Given the description of an element on the screen output the (x, y) to click on. 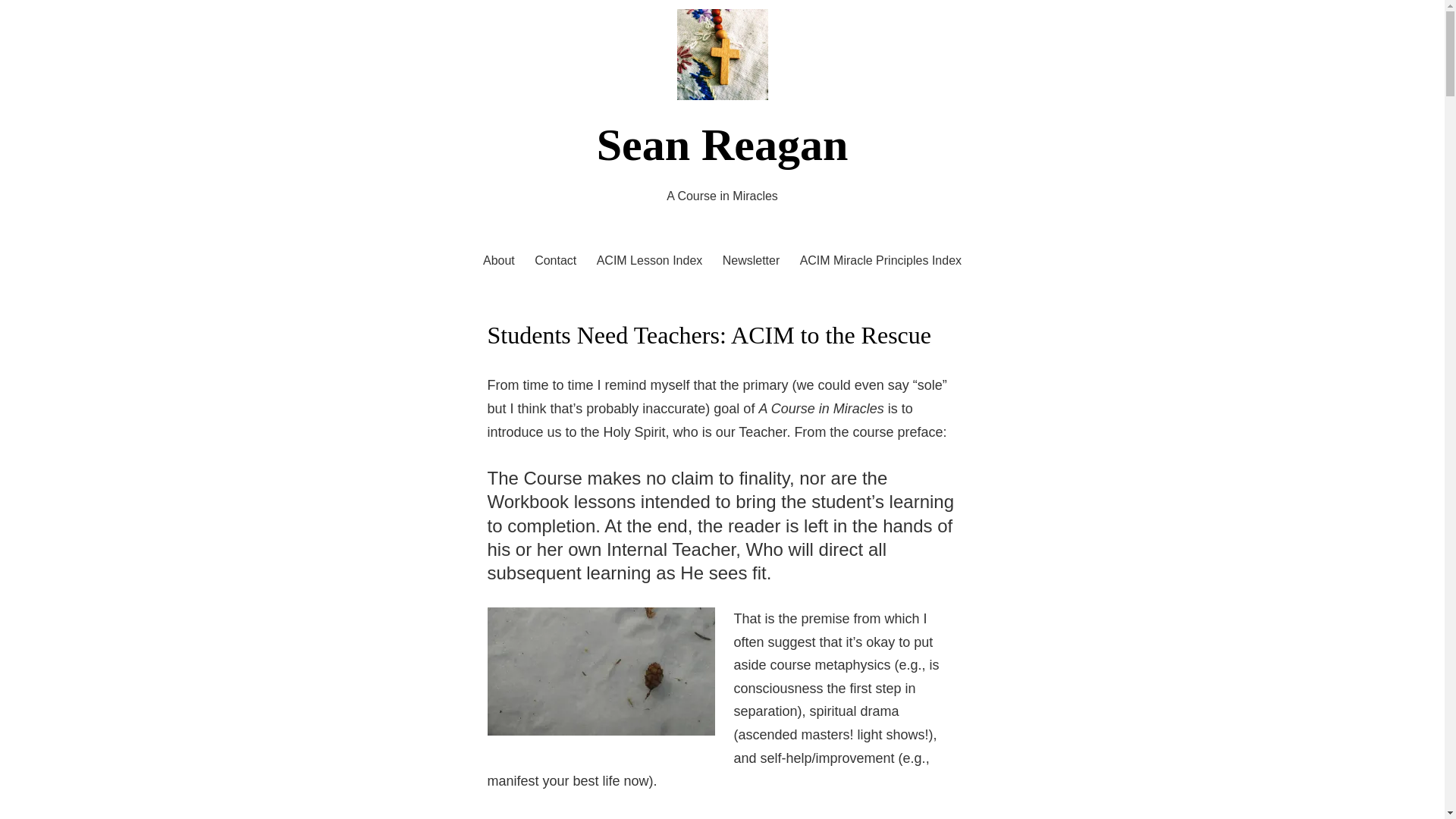
Newsletter (751, 260)
About (499, 260)
Contact (555, 260)
ACIM Miracle Principles Index (879, 260)
Sean Reagan (722, 144)
ACIM Lesson Index (649, 260)
